Given the description of an element on the screen output the (x, y) to click on. 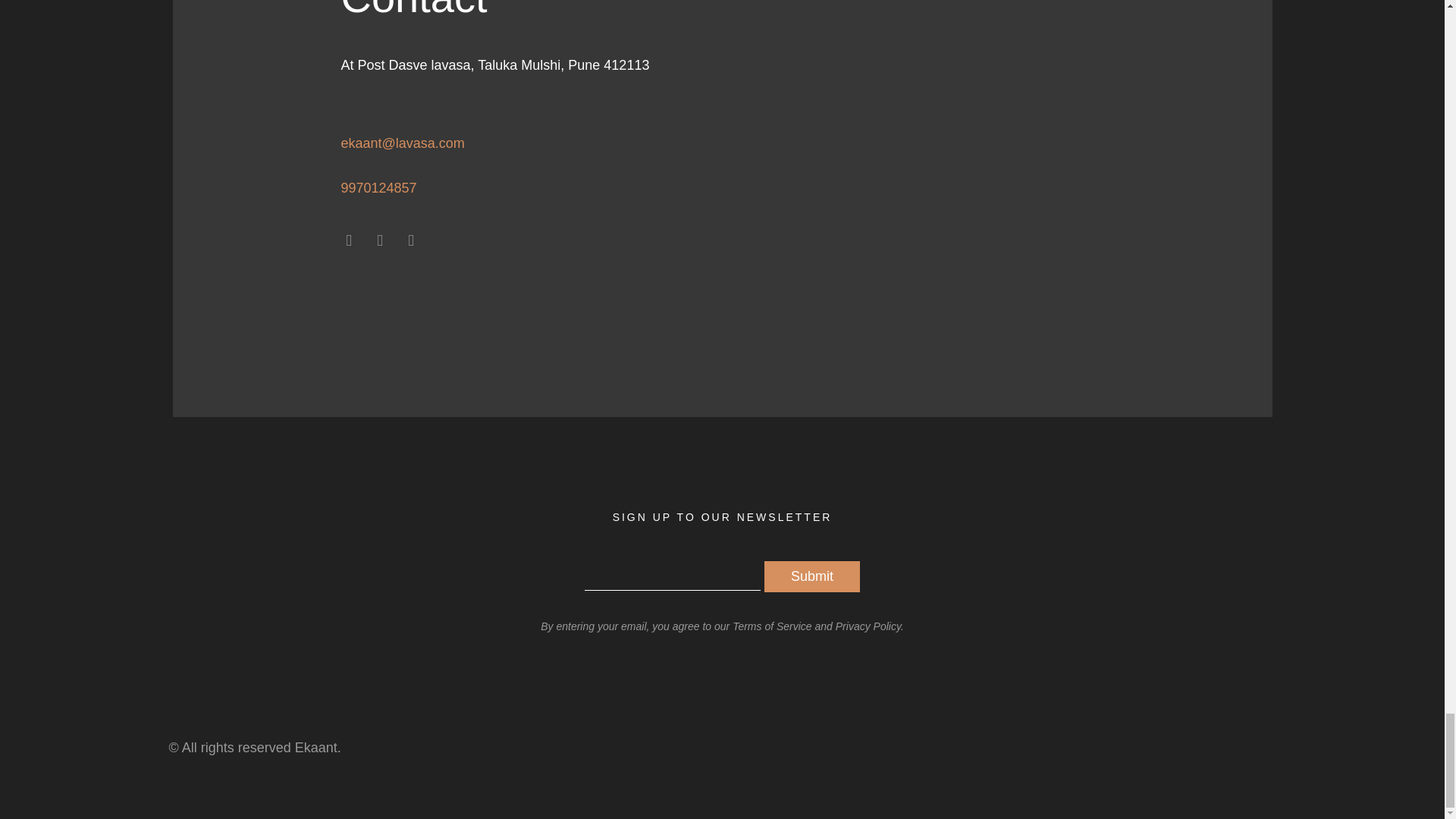
9970124857 (378, 187)
Twitter (379, 240)
Submit (812, 576)
Facebook (348, 240)
